Given the description of an element on the screen output the (x, y) to click on. 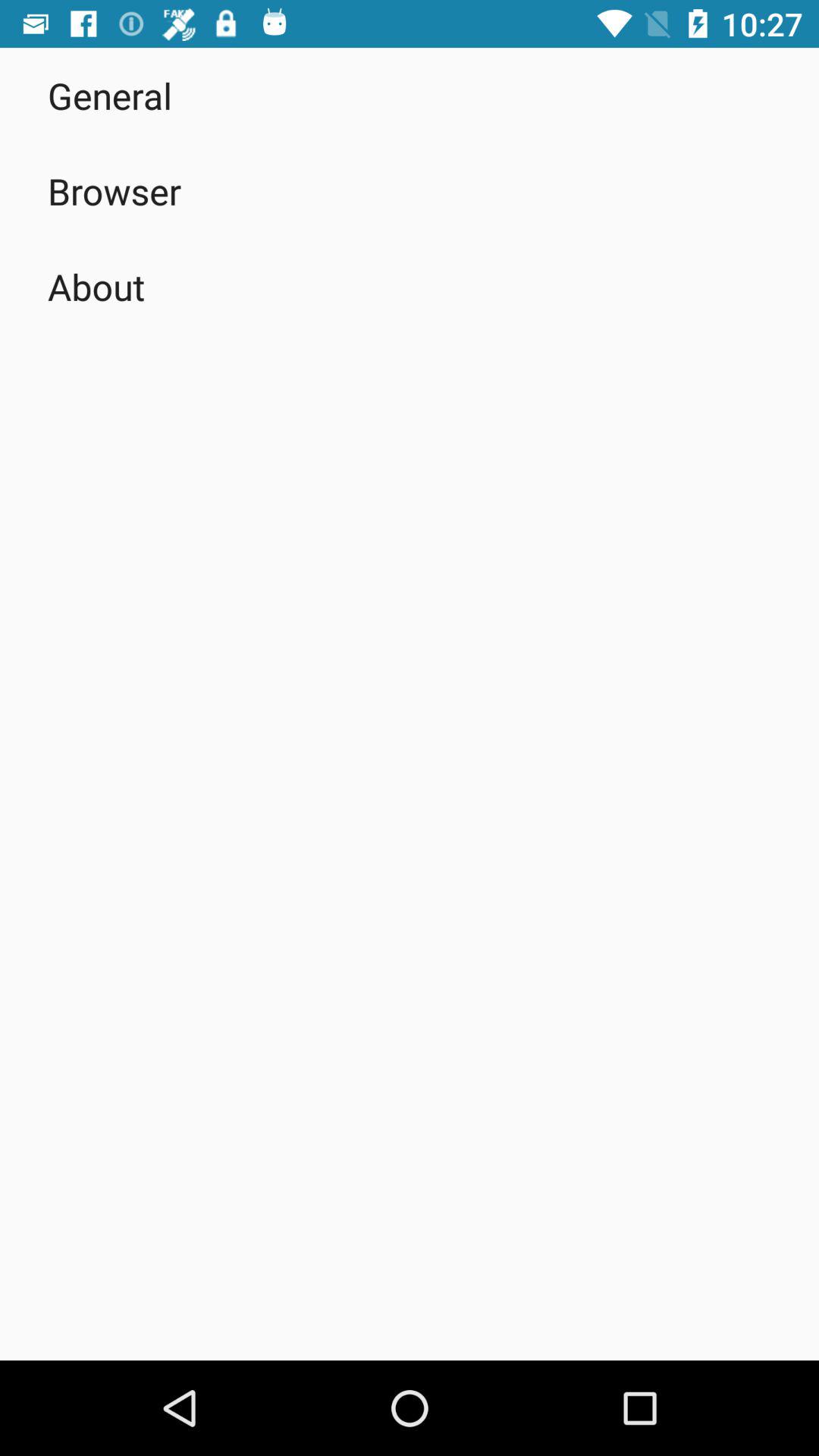
swipe until the about (96, 286)
